Given the description of an element on the screen output the (x, y) to click on. 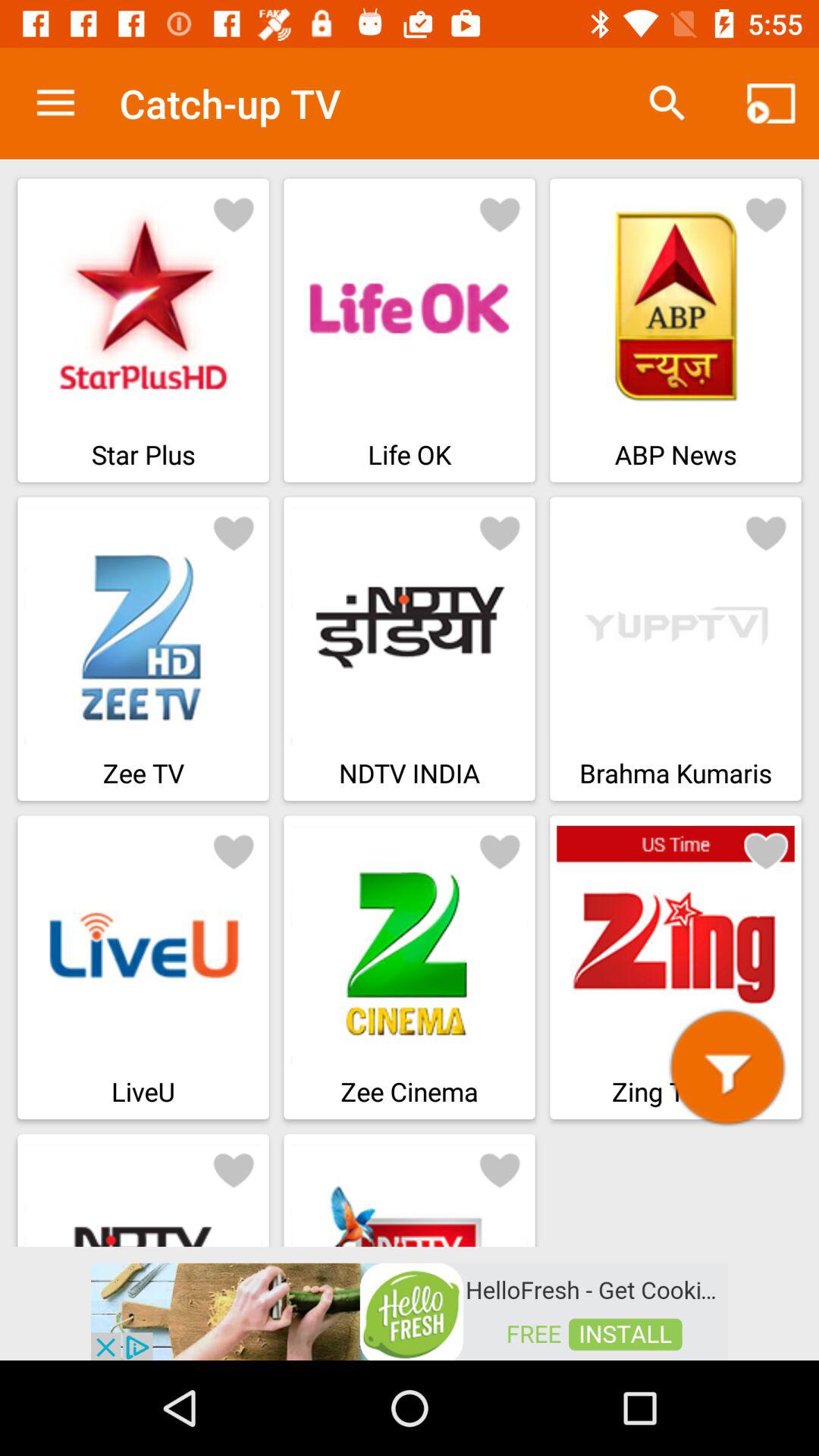
go to zing (727, 1067)
